Given the description of an element on the screen output the (x, y) to click on. 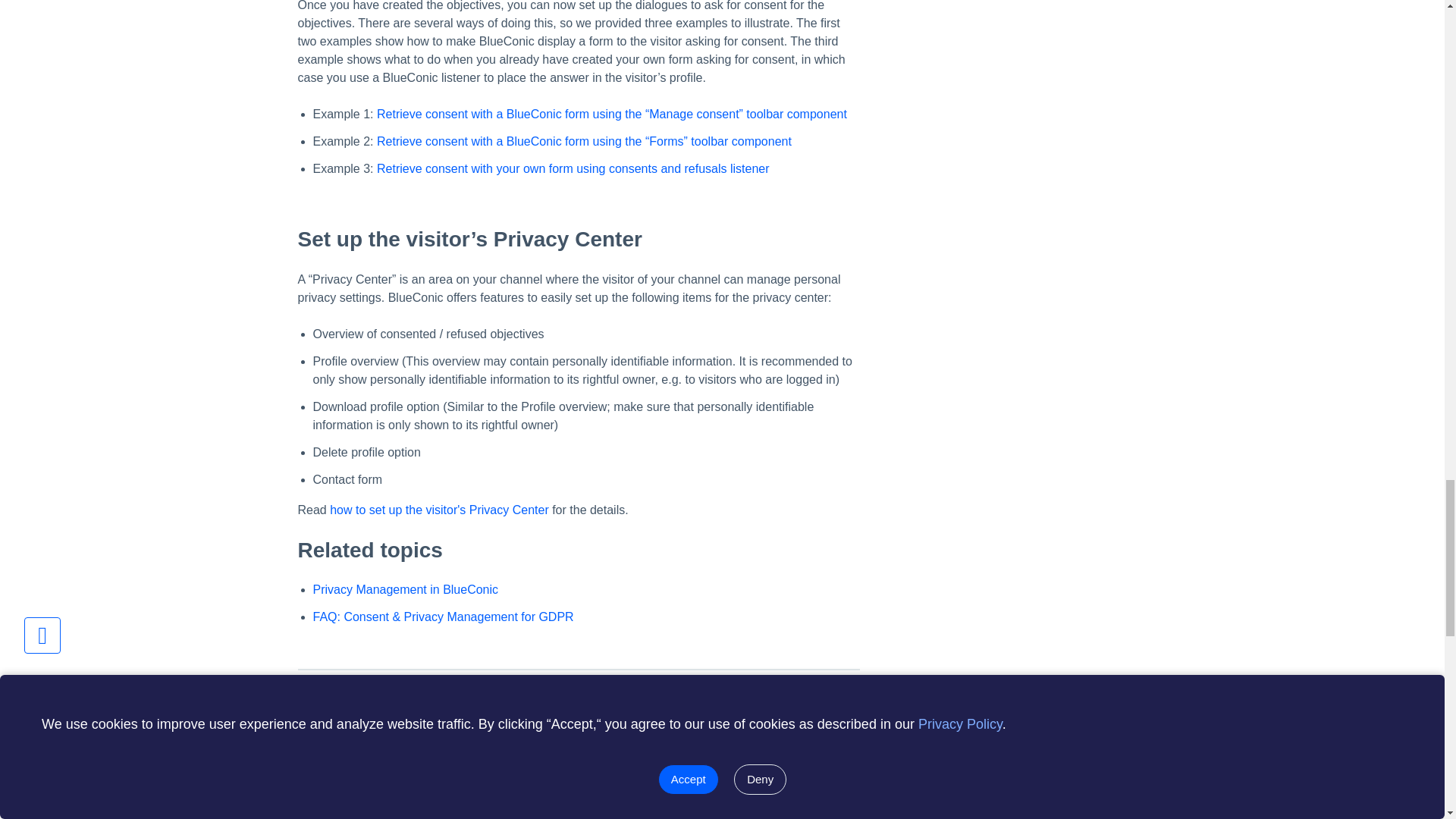
Privacy Settings (424, 810)
how to set up the visitor's Privacy Center (439, 509)
Privacy Management in BlueConic (405, 589)
